Given the description of an element on the screen output the (x, y) to click on. 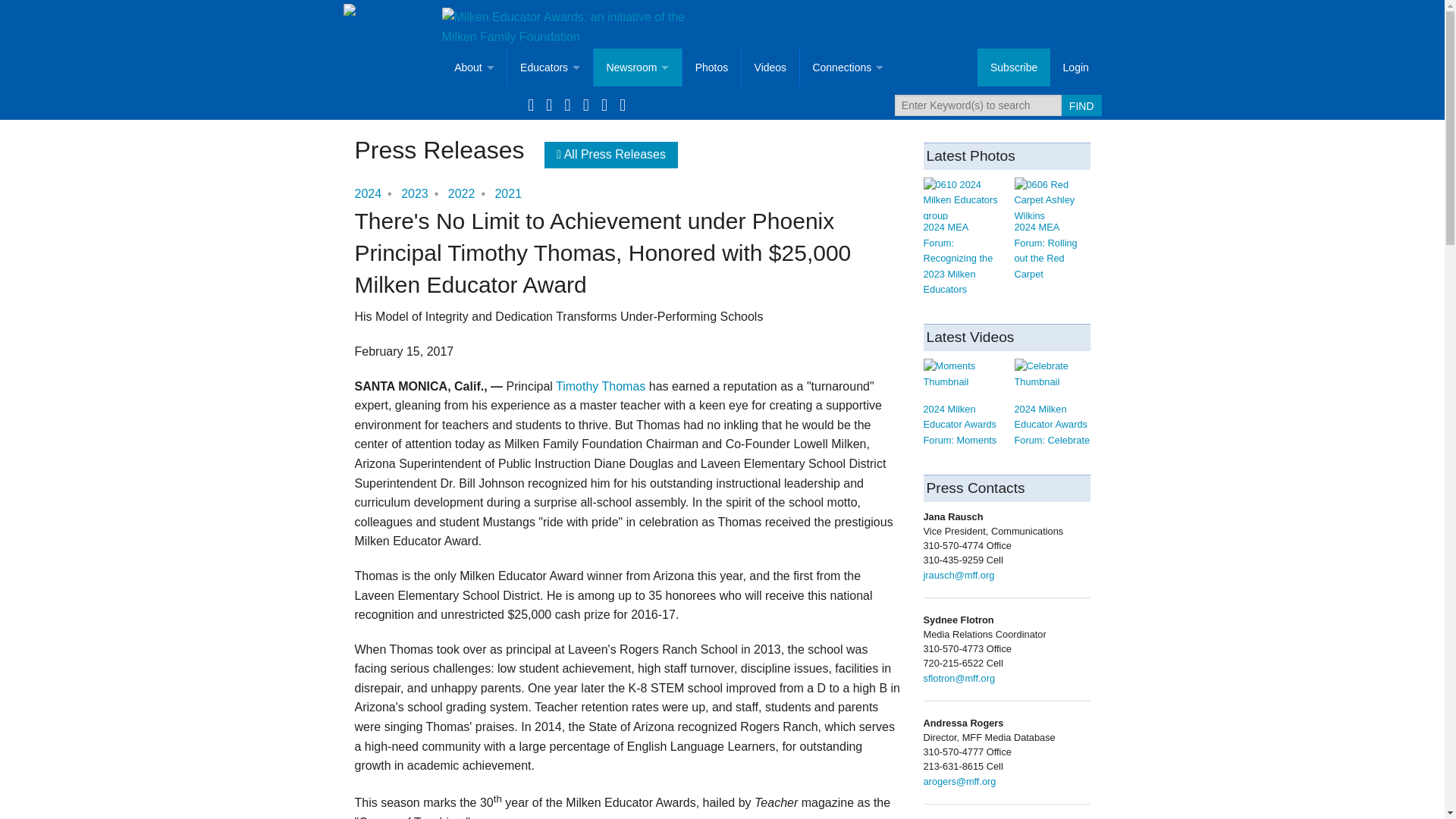
Subscribe (637, 294)
Staff (473, 370)
Newsroom (637, 67)
Go to the State Partners (473, 408)
Login (1075, 67)
Go to the Fact Sheet (473, 218)
Go to the MEA Brochure (473, 257)
Videos (637, 180)
Lowell Milken (473, 294)
